Given the description of an element on the screen output the (x, y) to click on. 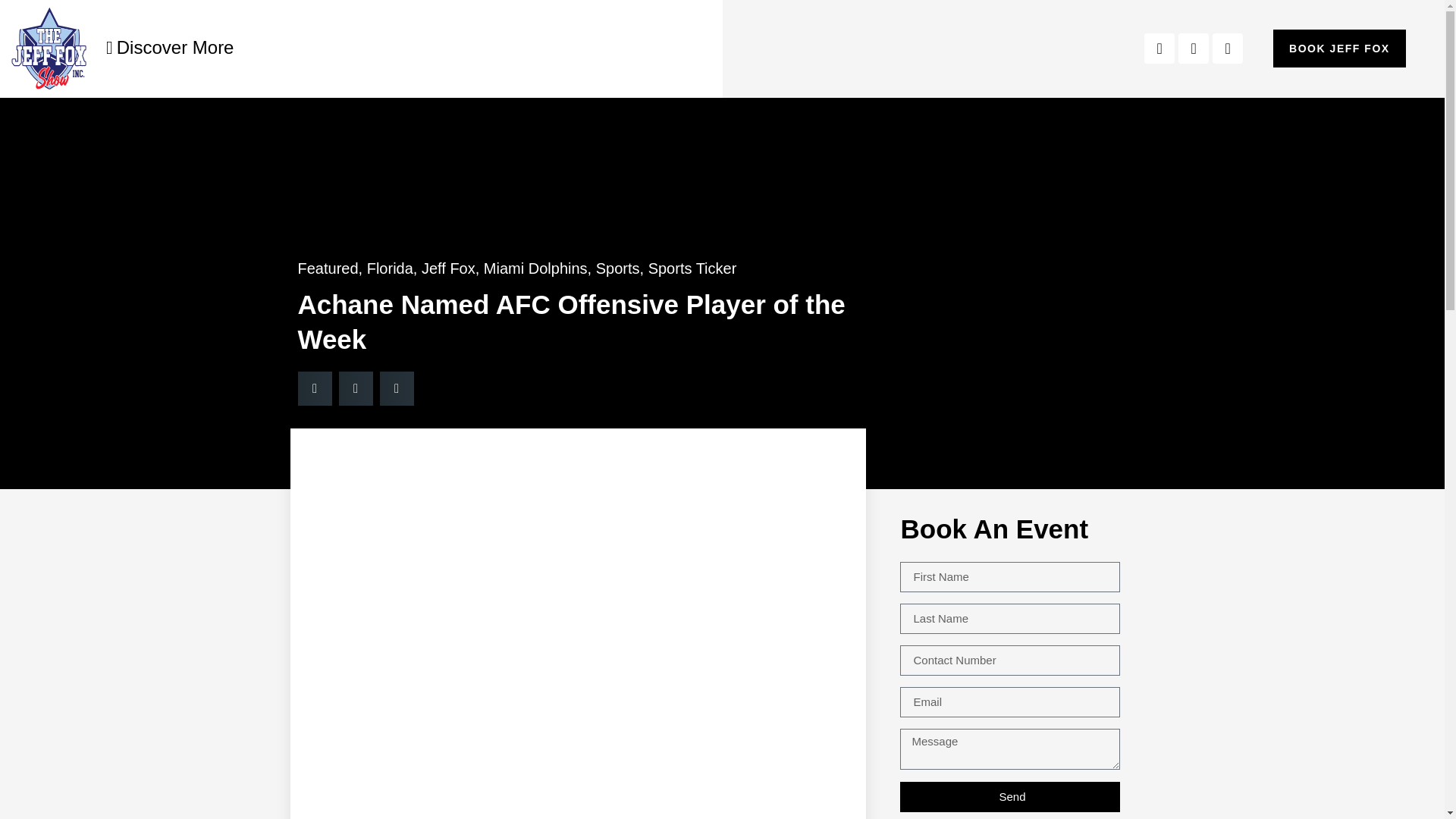
Sports Ticker (691, 268)
BOOK JEFF FOX (1339, 48)
Jeff Fox (449, 268)
Featured (327, 268)
Sports (617, 268)
Send (1009, 796)
Florida (389, 268)
Miami Dolphins (535, 268)
Discover More (169, 46)
